Given the description of an element on the screen output the (x, y) to click on. 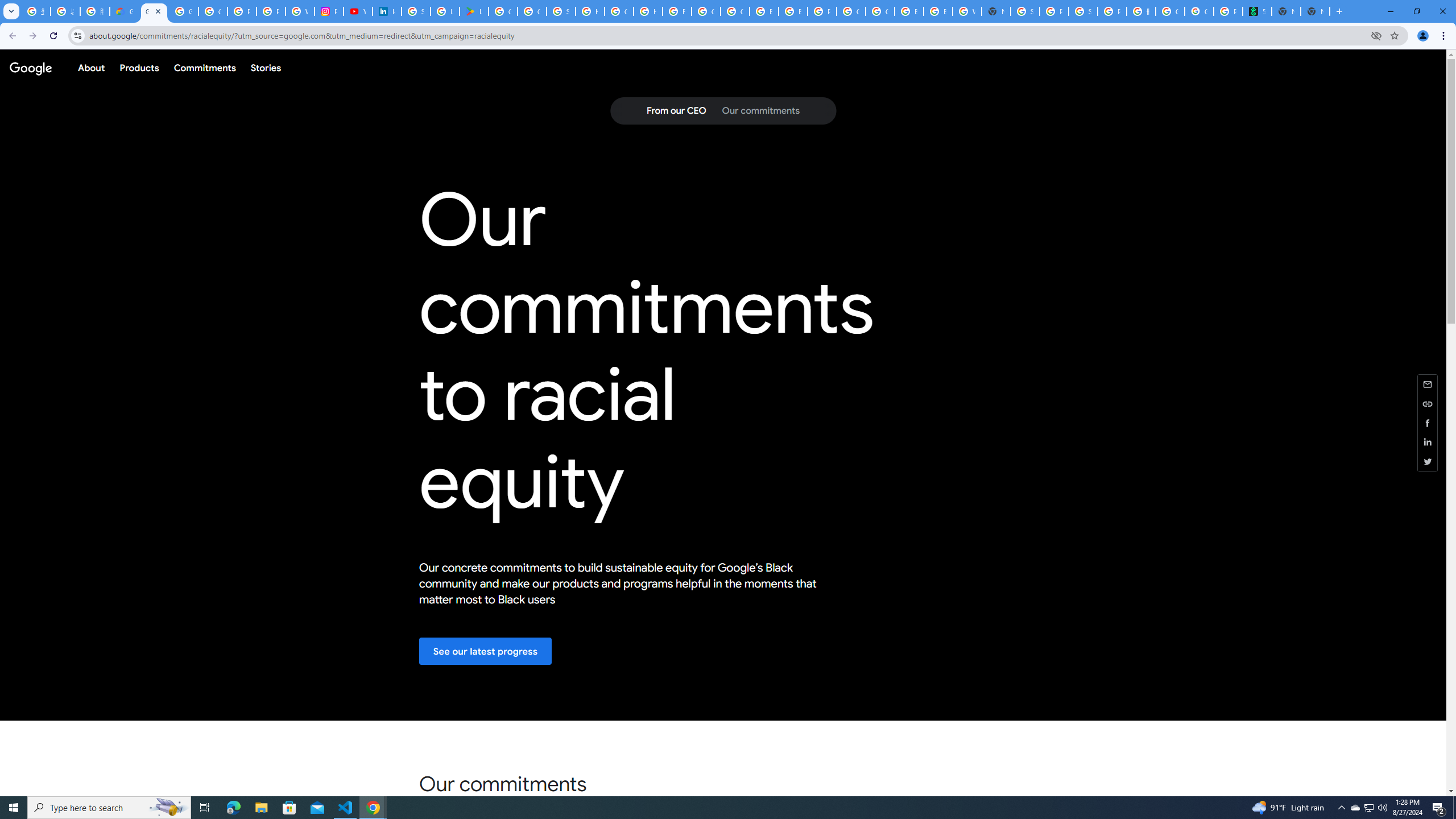
Share this page (Email) (1427, 383)
Last Shelter: Survival - Apps on Google Play (473, 11)
Browse Chrome as a guest - Computer - Google Chrome Help (908, 11)
Stories (265, 67)
Sign in - Google Accounts (415, 11)
Commitments (204, 67)
